Given the description of an element on the screen output the (x, y) to click on. 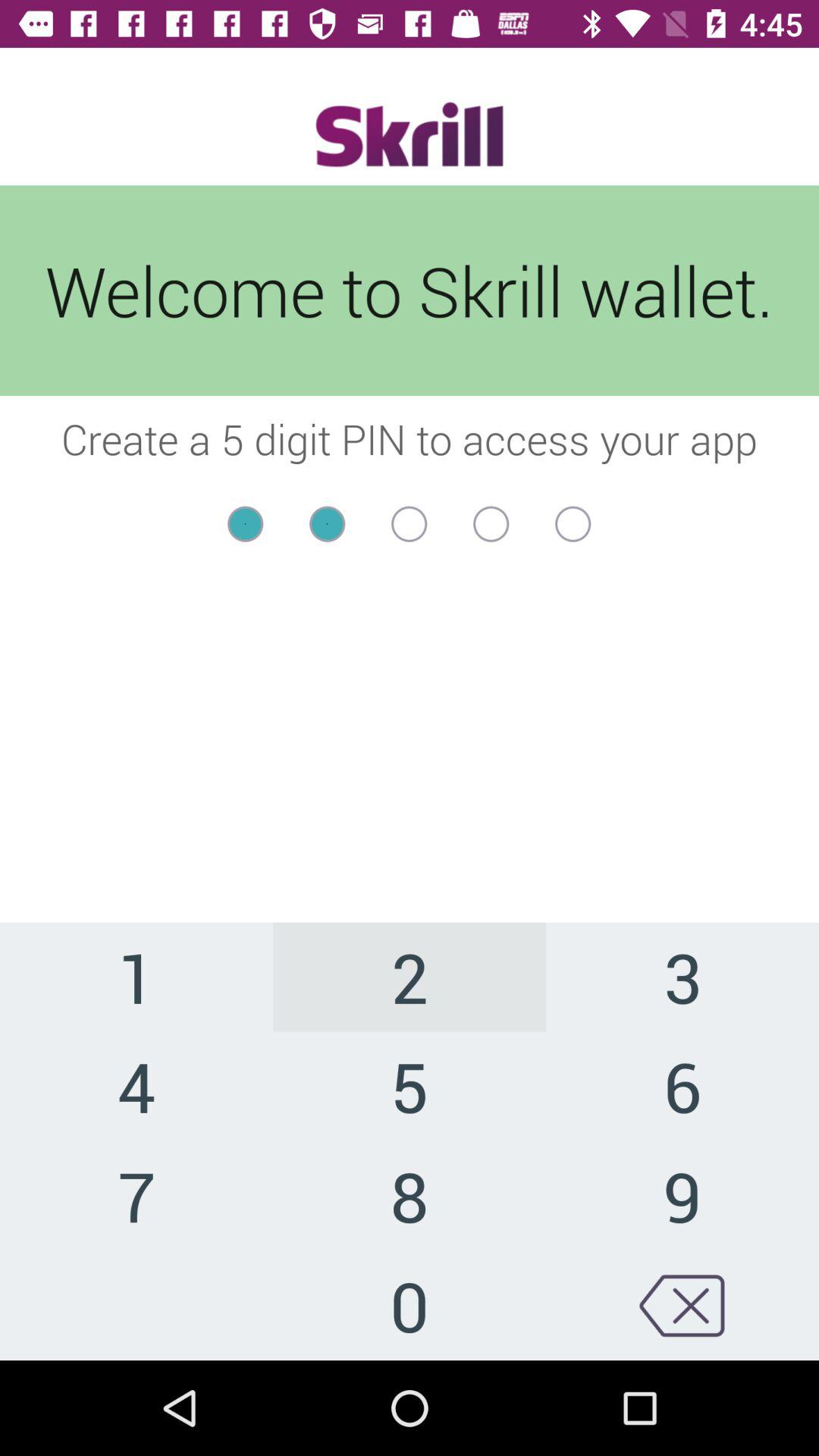
launch the icon below 7 icon (409, 1305)
